Given the description of an element on the screen output the (x, y) to click on. 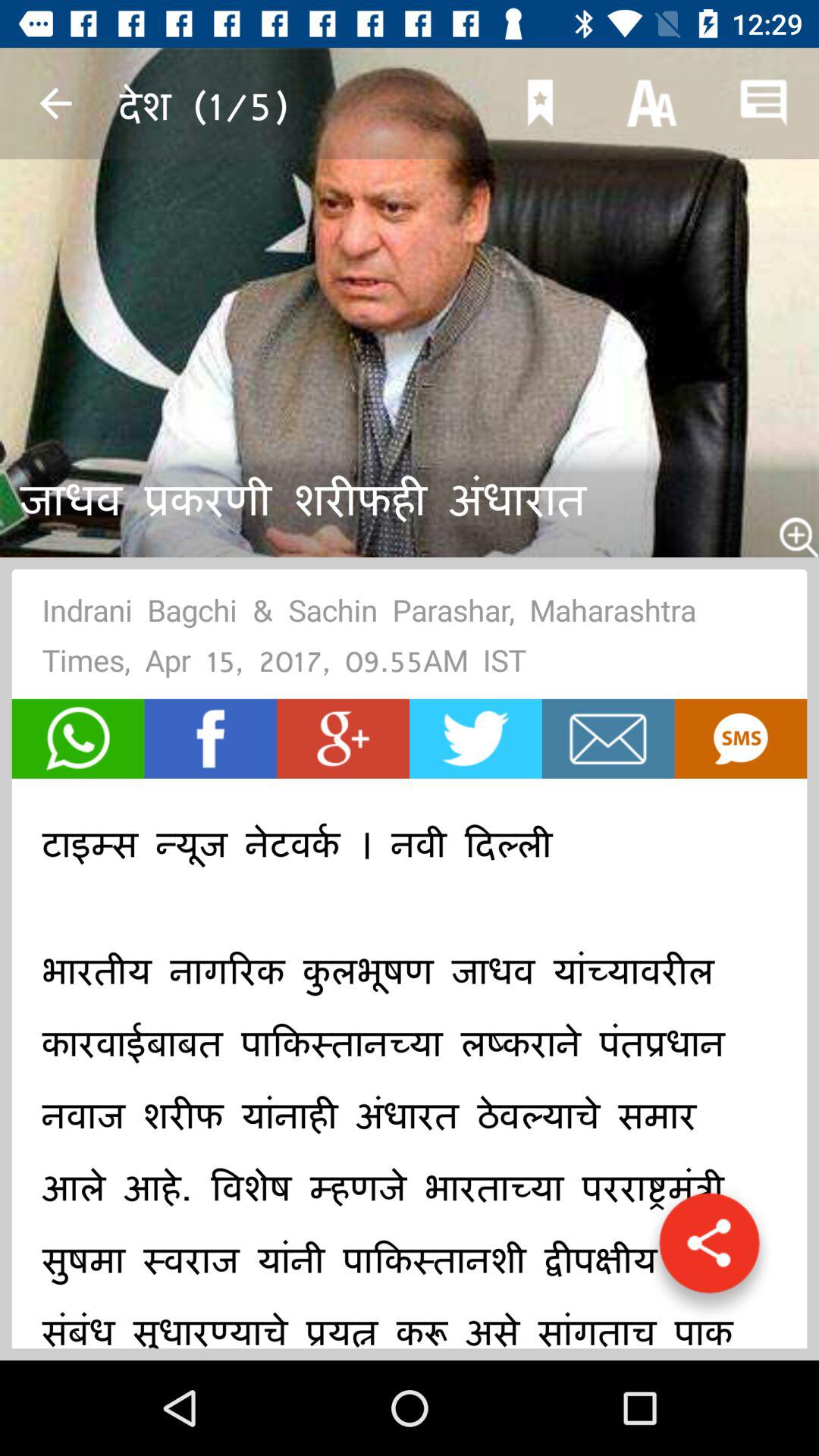
email article (608, 738)
